Given the description of an element on the screen output the (x, y) to click on. 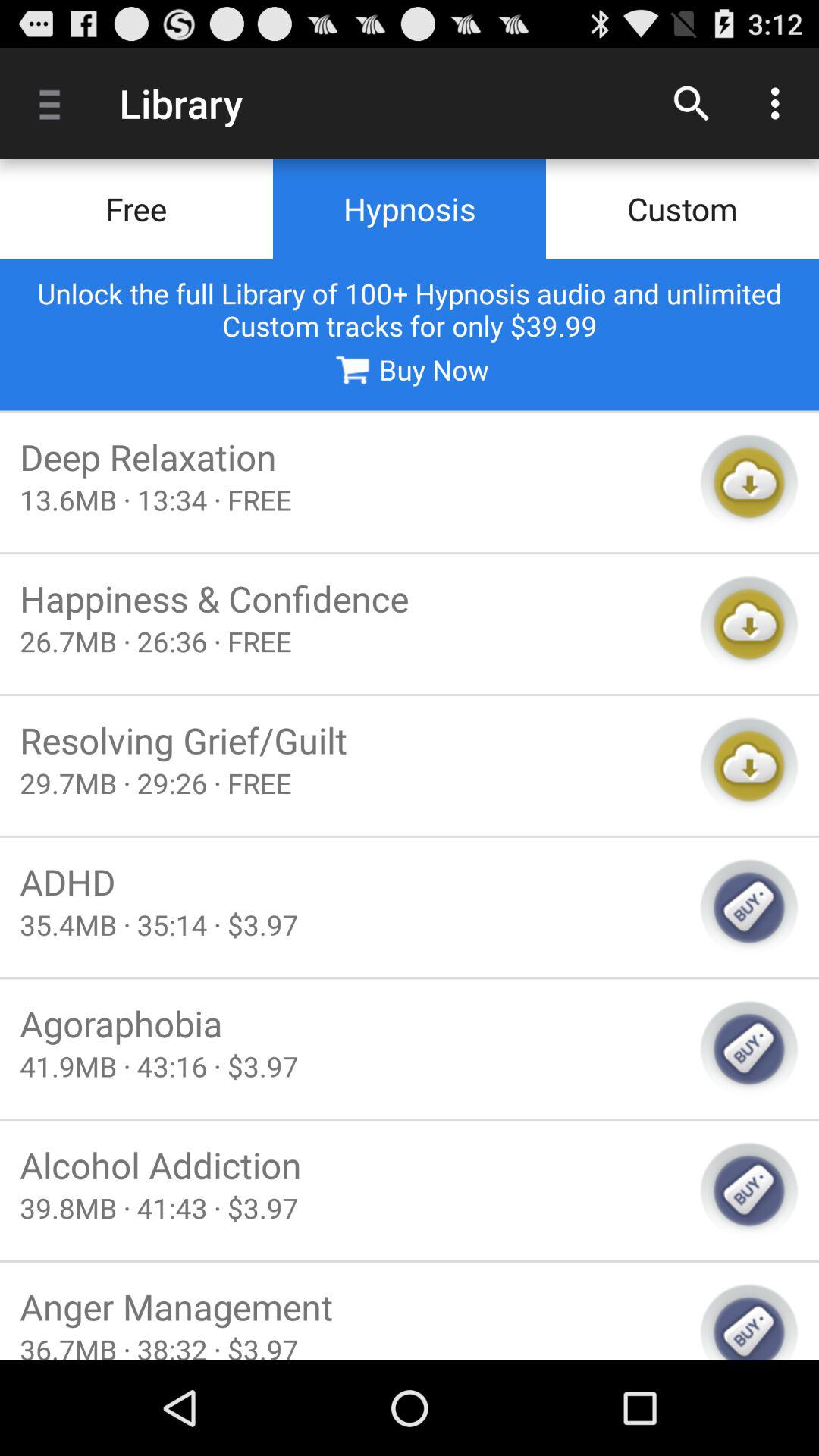
buy option (749, 1321)
